Given the description of an element on the screen output the (x, y) to click on. 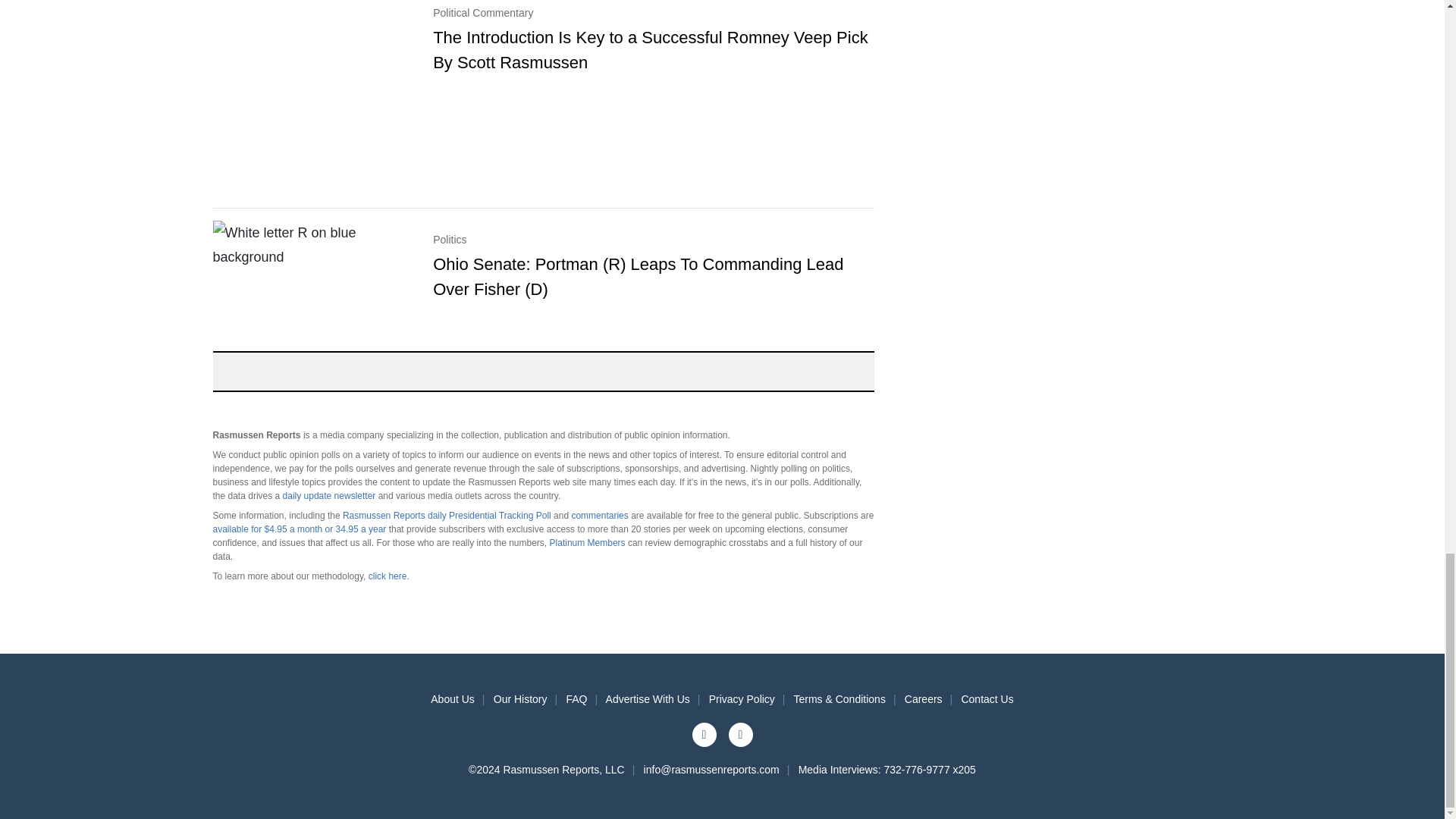
Politics (652, 252)
Political Commentary (652, 25)
